Given the description of an element on the screen output the (x, y) to click on. 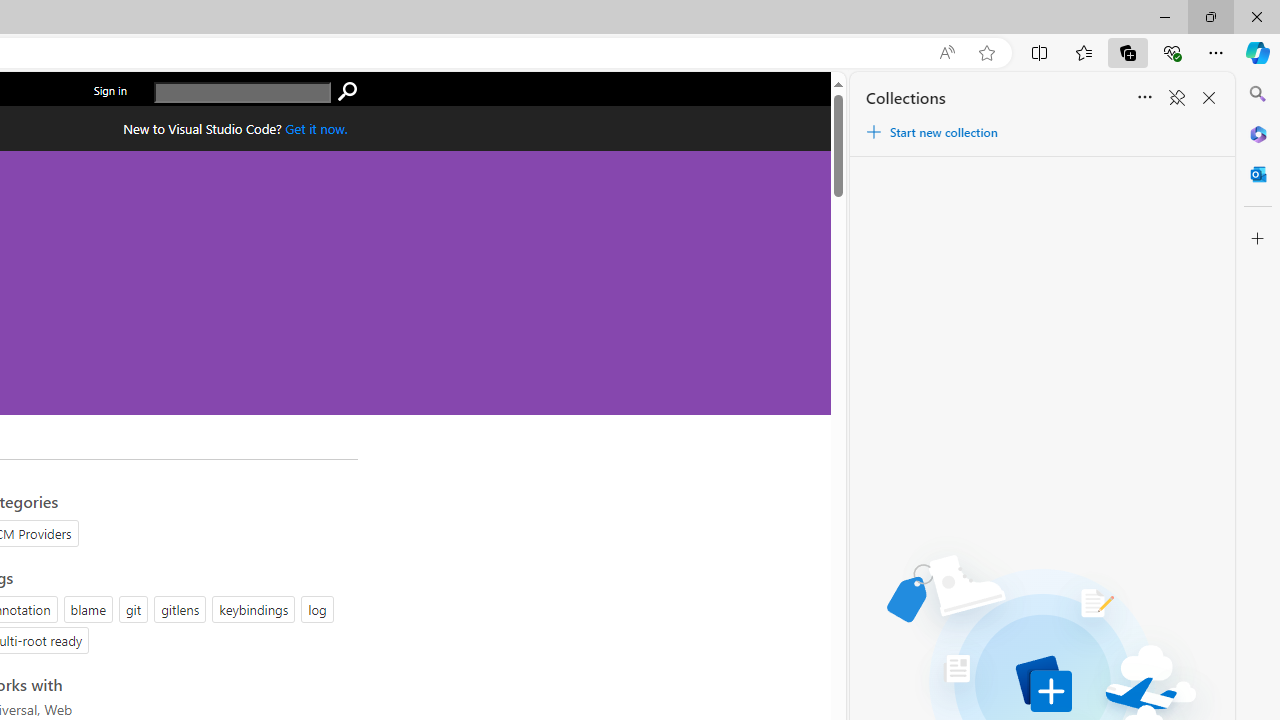
Start new collection (931, 132)
